Given the description of an element on the screen output the (x, y) to click on. 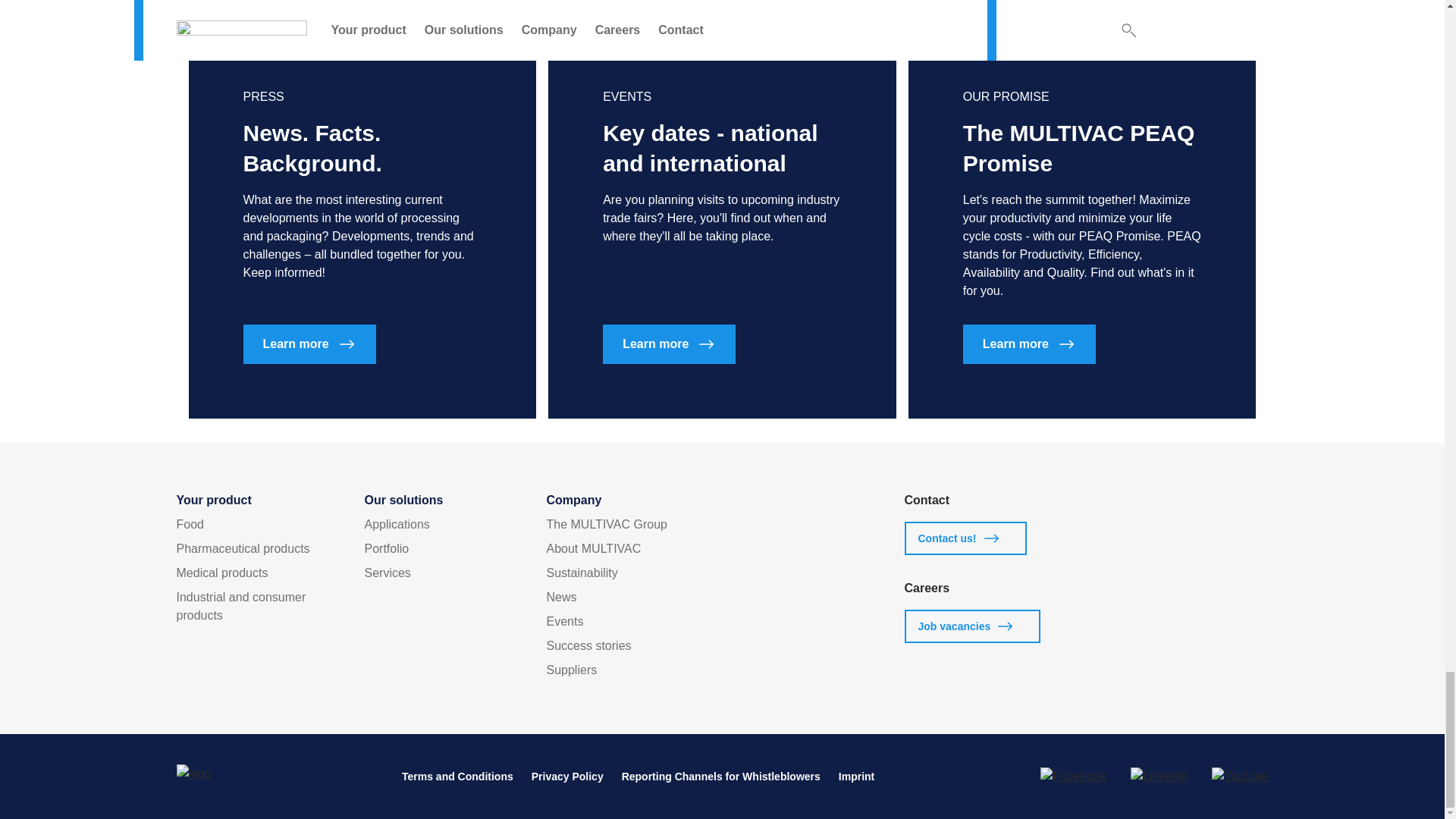
Youtube (1239, 776)
Linkedin (1159, 776)
Facebook (1073, 776)
